Given the description of an element on the screen output the (x, y) to click on. 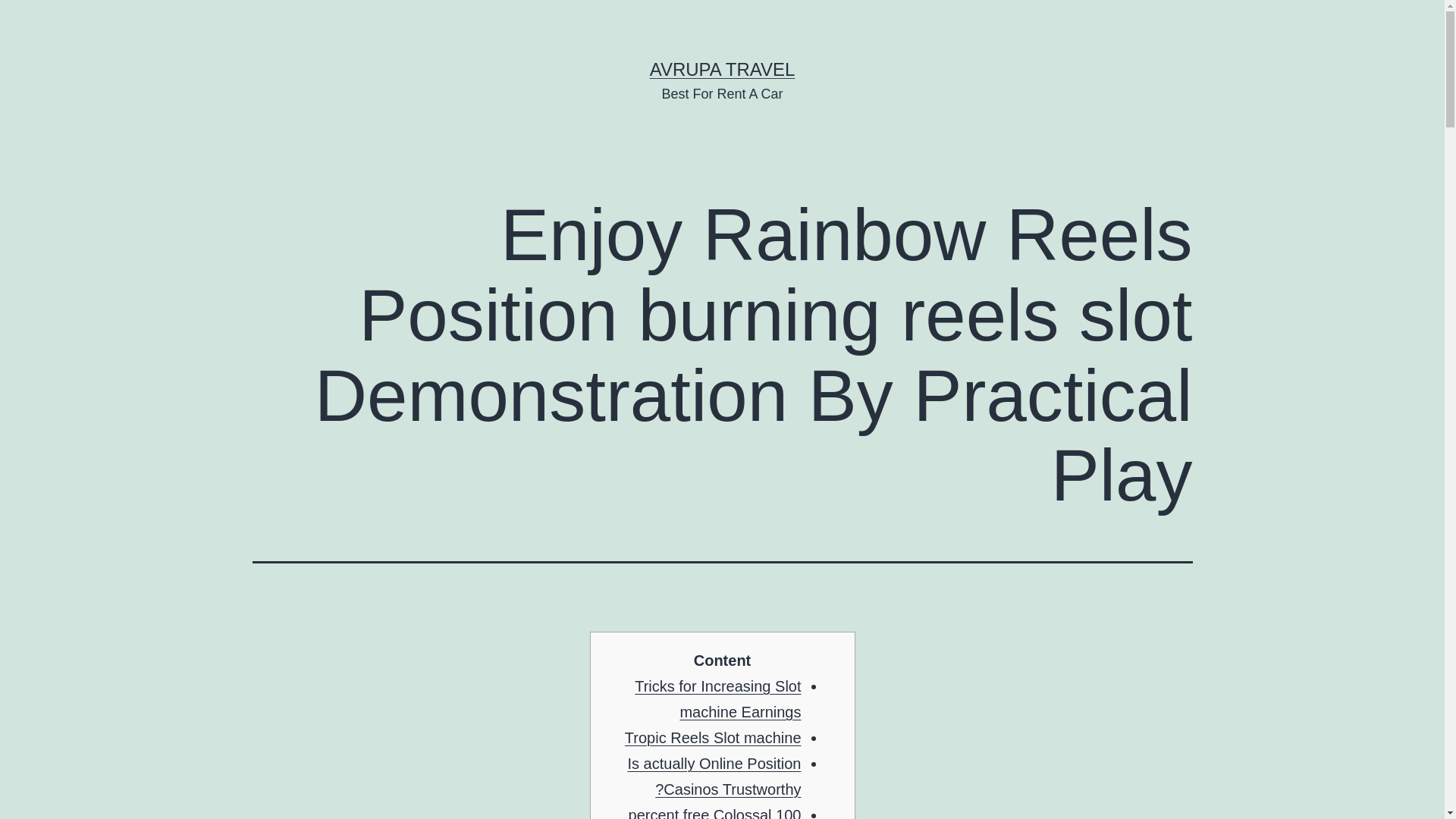
AVRUPA TRAVEL (721, 68)
Is actually Online Position Casinos Trustworthy? (713, 776)
Tricks for Increasing Slot machine Earnings (717, 699)
Tropic Reels Slot machine (713, 737)
100 percent free Colossal Reels Slot machines (715, 812)
